Given the description of an element on the screen output the (x, y) to click on. 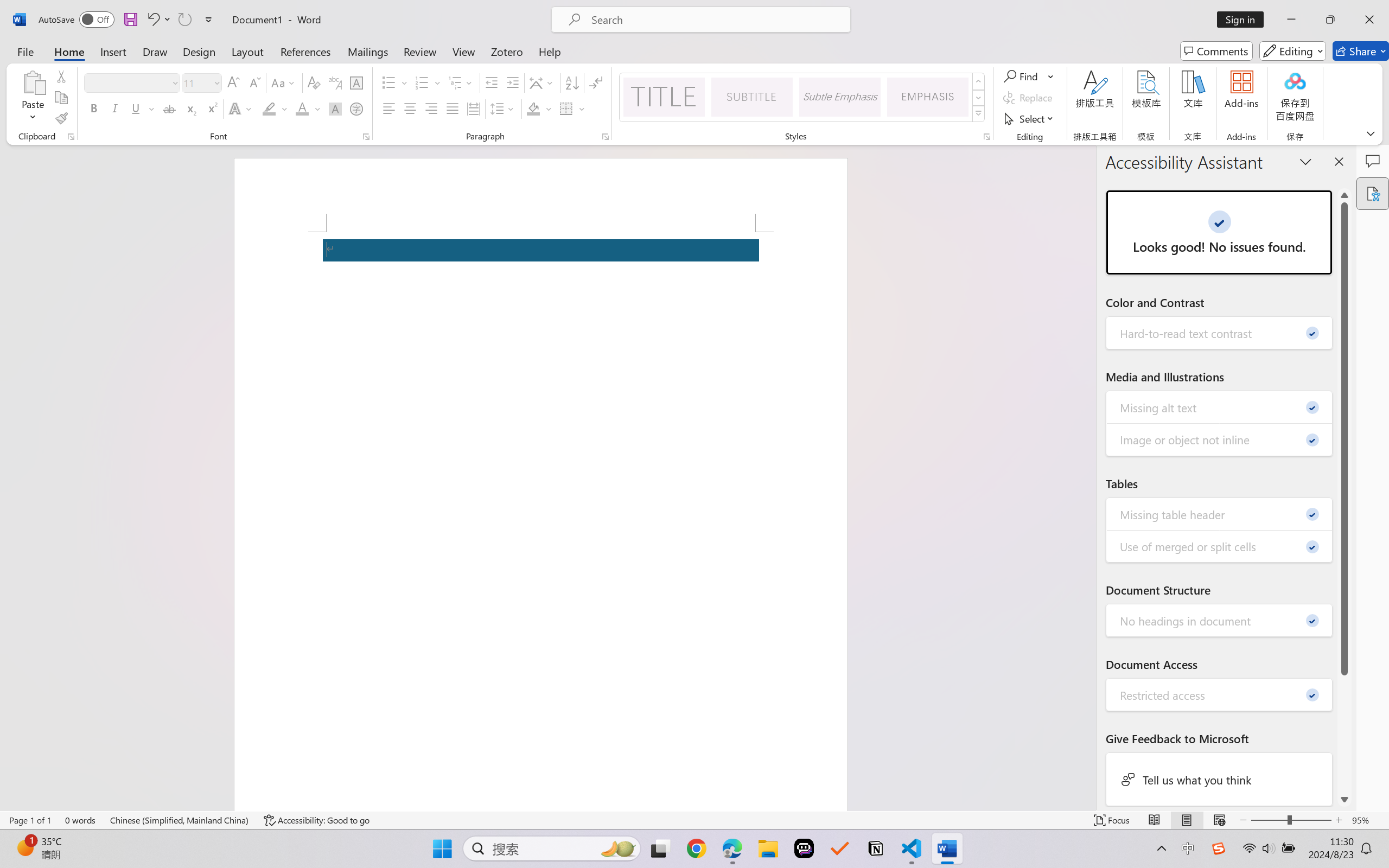
No headings in document - 0 (1219, 620)
